Given the description of an element on the screen output the (x, y) to click on. 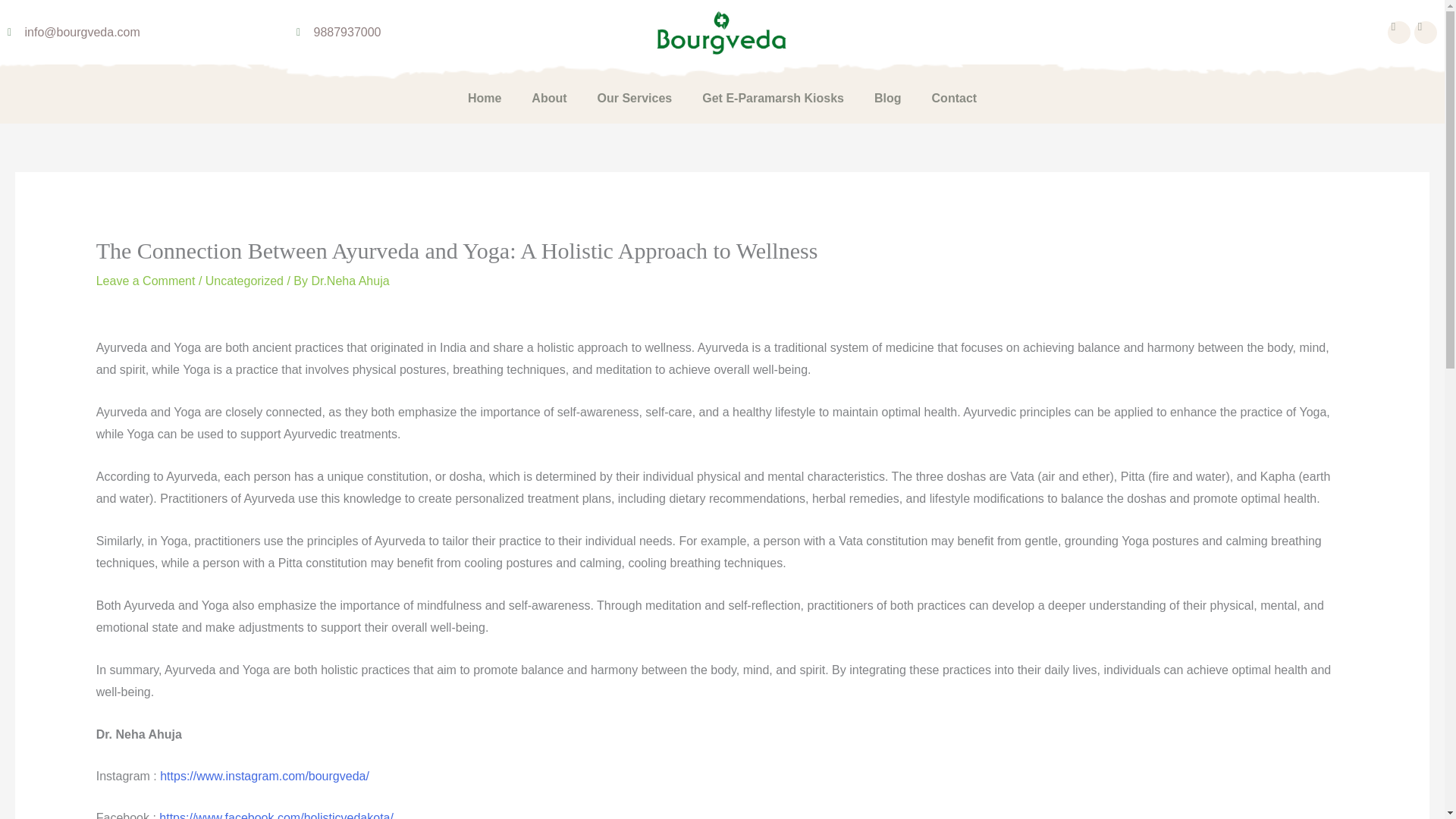
Blog (888, 98)
Uncategorized (244, 280)
View all posts by Dr.Neha Ahuja (349, 280)
9887937000 (433, 32)
About (548, 98)
Contact (954, 98)
Our Services (634, 98)
Dr.Neha Ahuja (349, 280)
Home (484, 98)
Leave a Comment (145, 280)
